Given the description of an element on the screen output the (x, y) to click on. 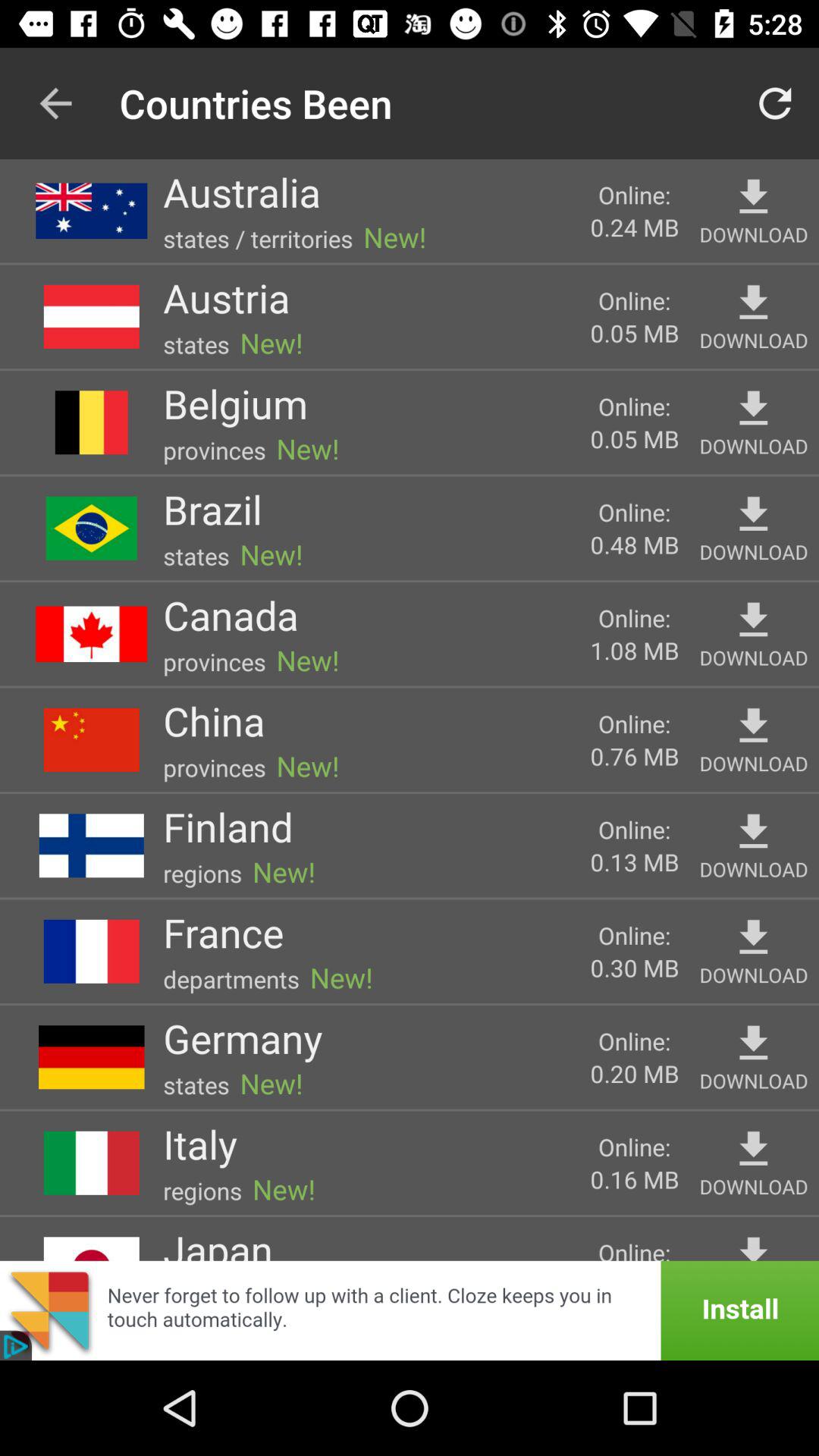
tap item above new! (226, 297)
